Given the description of an element on the screen output the (x, y) to click on. 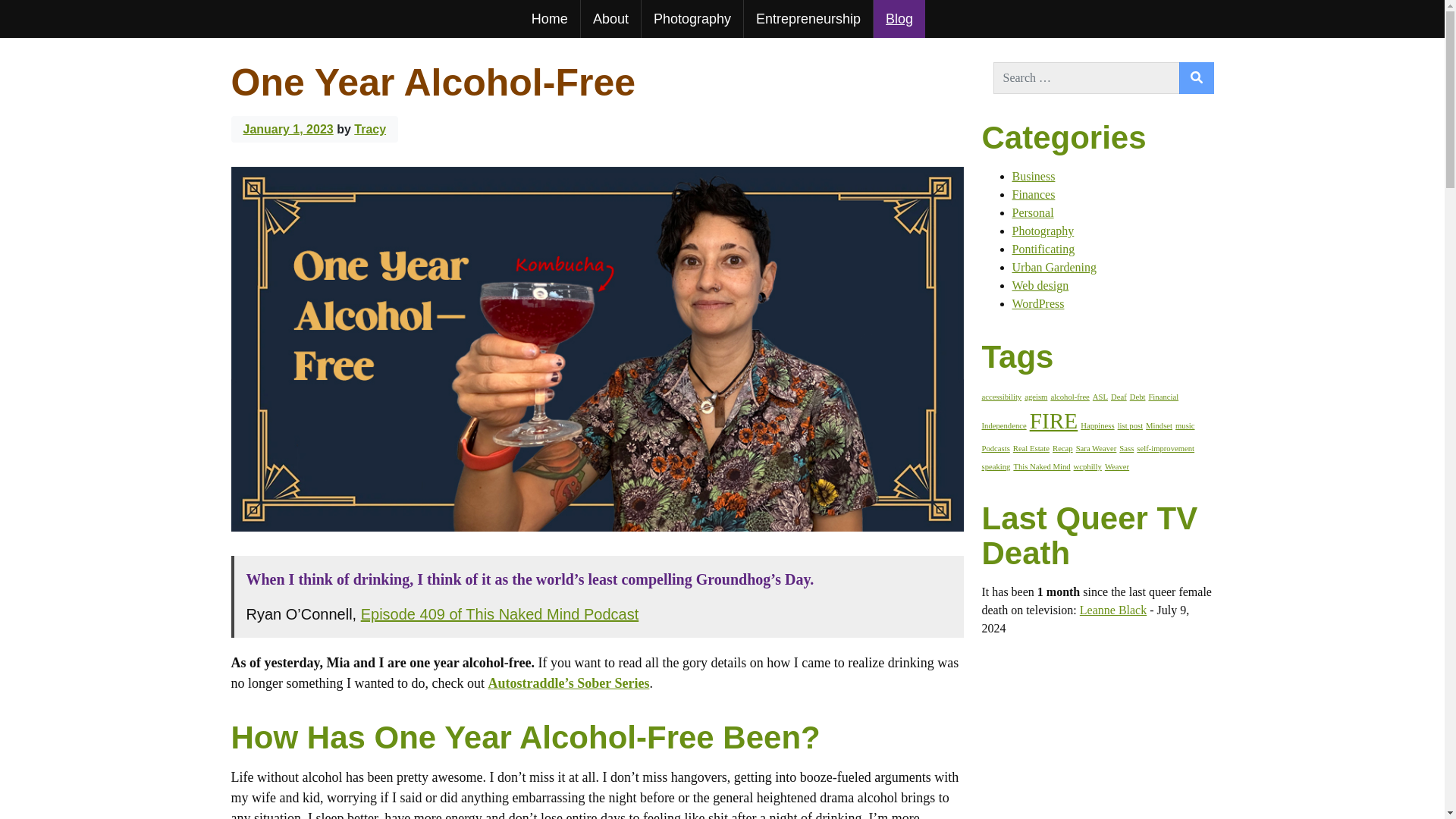
Web design (1039, 285)
Blog (898, 18)
About (610, 18)
Home (549, 18)
Business (1032, 175)
Urban Gardening (1053, 267)
Search for: (1085, 78)
Entrepreneurship (808, 18)
Episode 409 of This Naked Mind Podcast (500, 614)
Tracy (369, 128)
